Given the description of an element on the screen output the (x, y) to click on. 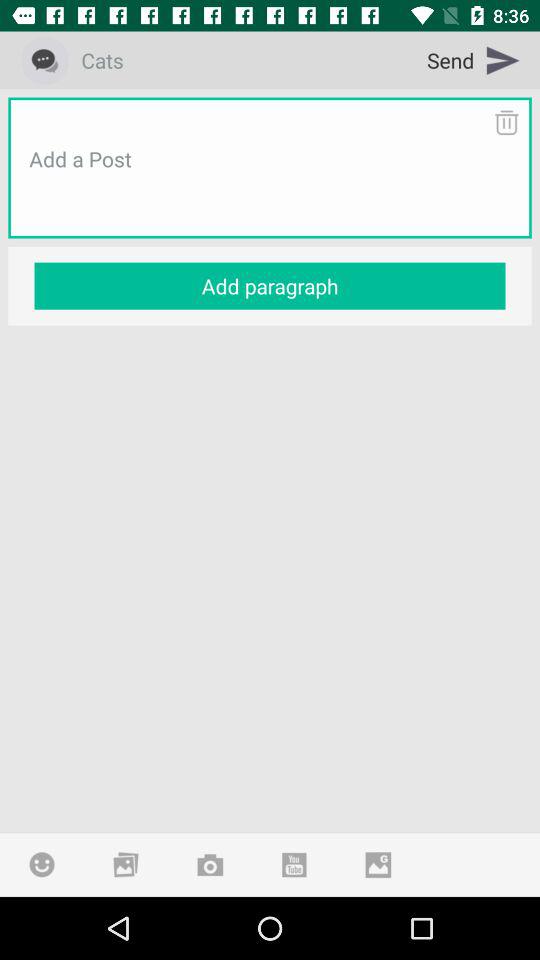
delete text (506, 122)
